Given the description of an element on the screen output the (x, y) to click on. 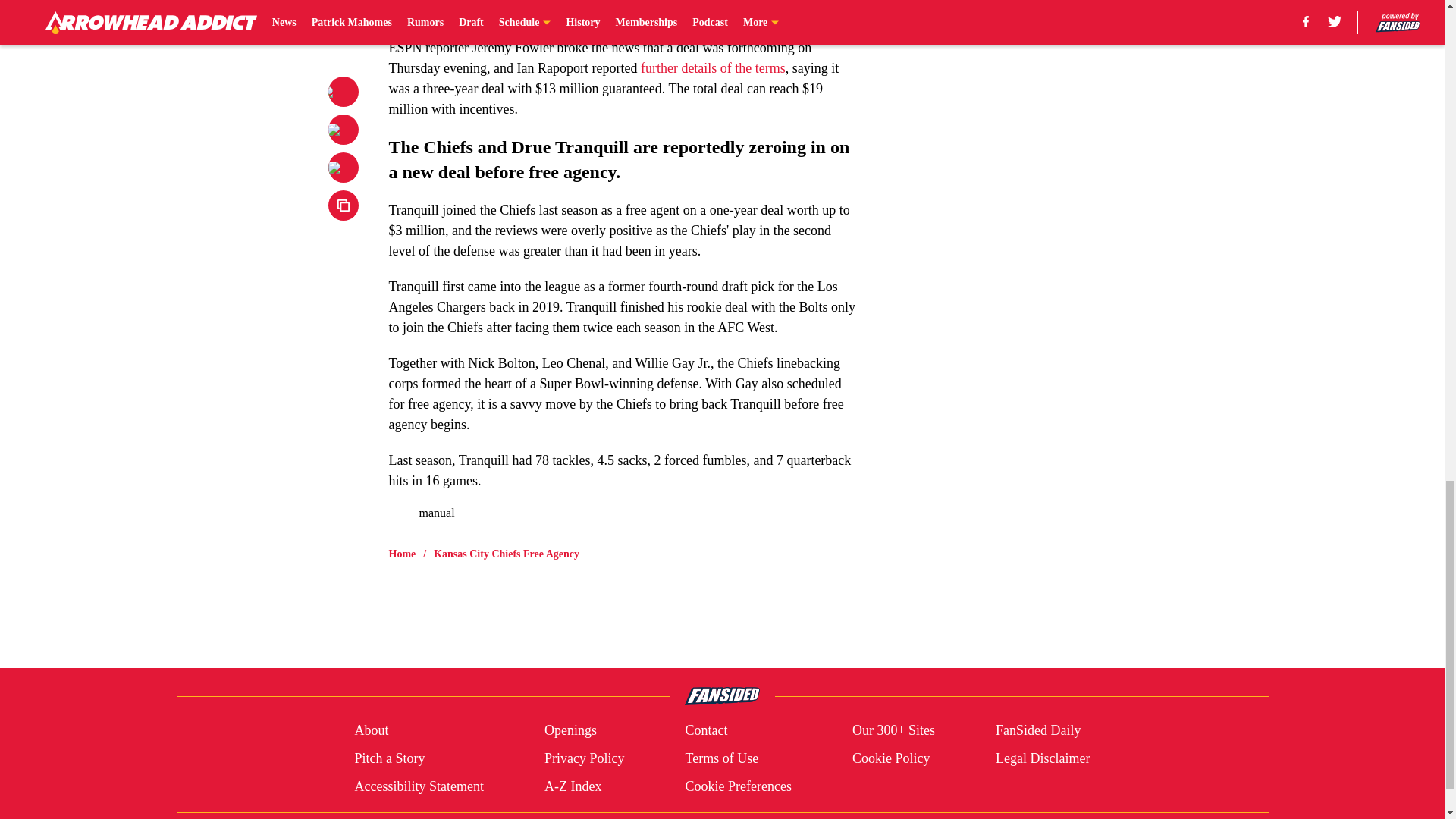
Home (401, 554)
Legal Disclaimer (1042, 758)
Contact (705, 730)
Kansas City Chiefs Free Agency (506, 554)
Openings (570, 730)
FanSided Daily (1038, 730)
About (370, 730)
Cookie Policy (890, 758)
Pitch a Story (389, 758)
Privacy Policy (584, 758)
